Given the description of an element on the screen output the (x, y) to click on. 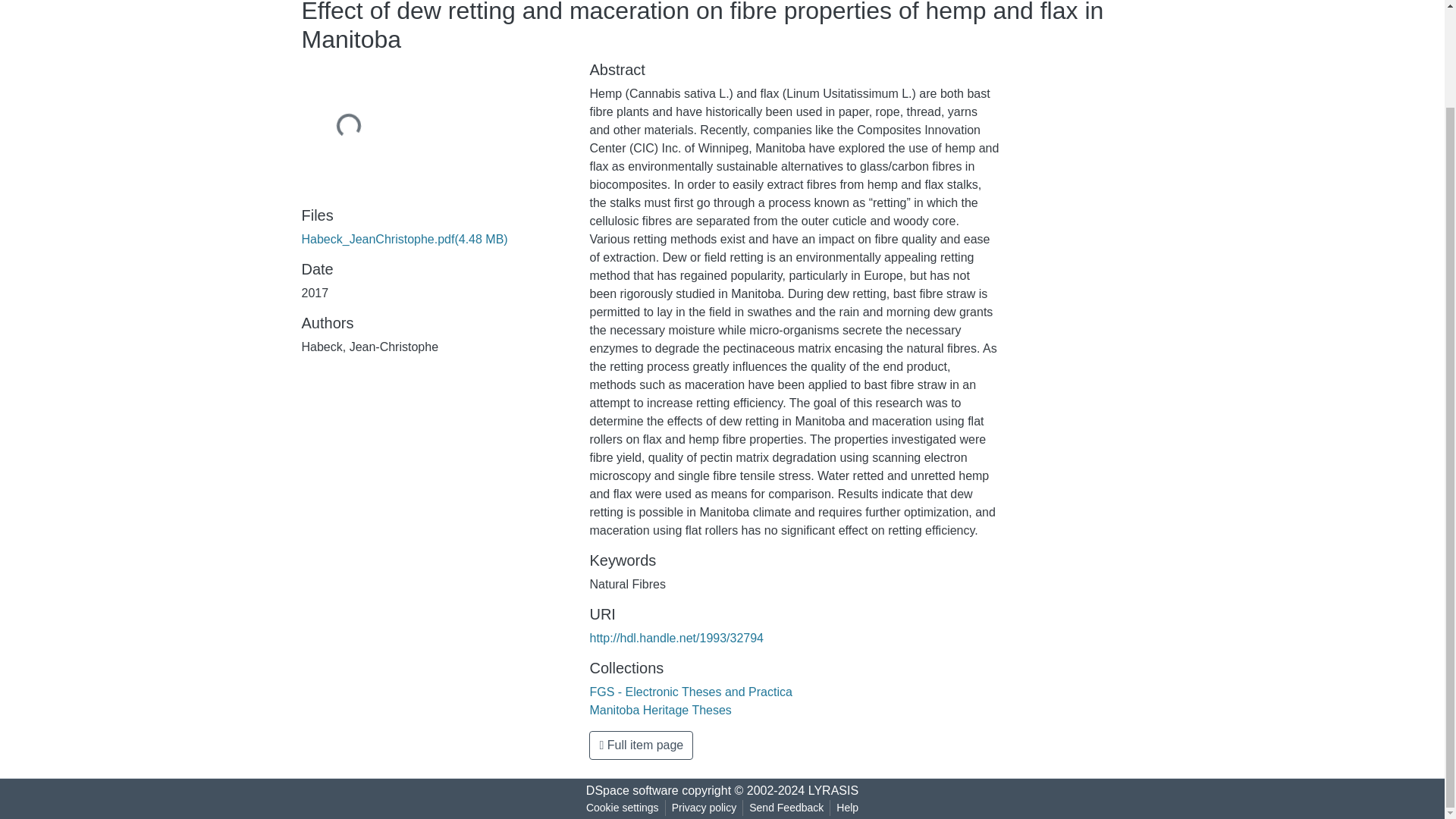
Send Feedback (785, 807)
Full item page (641, 745)
Privacy policy (703, 807)
LYRASIS (833, 789)
FGS - Electronic Theses and Practica (690, 691)
Manitoba Heritage Theses (659, 709)
DSpace software (632, 789)
Cookie settings (622, 807)
Help (846, 807)
